Given the description of an element on the screen output the (x, y) to click on. 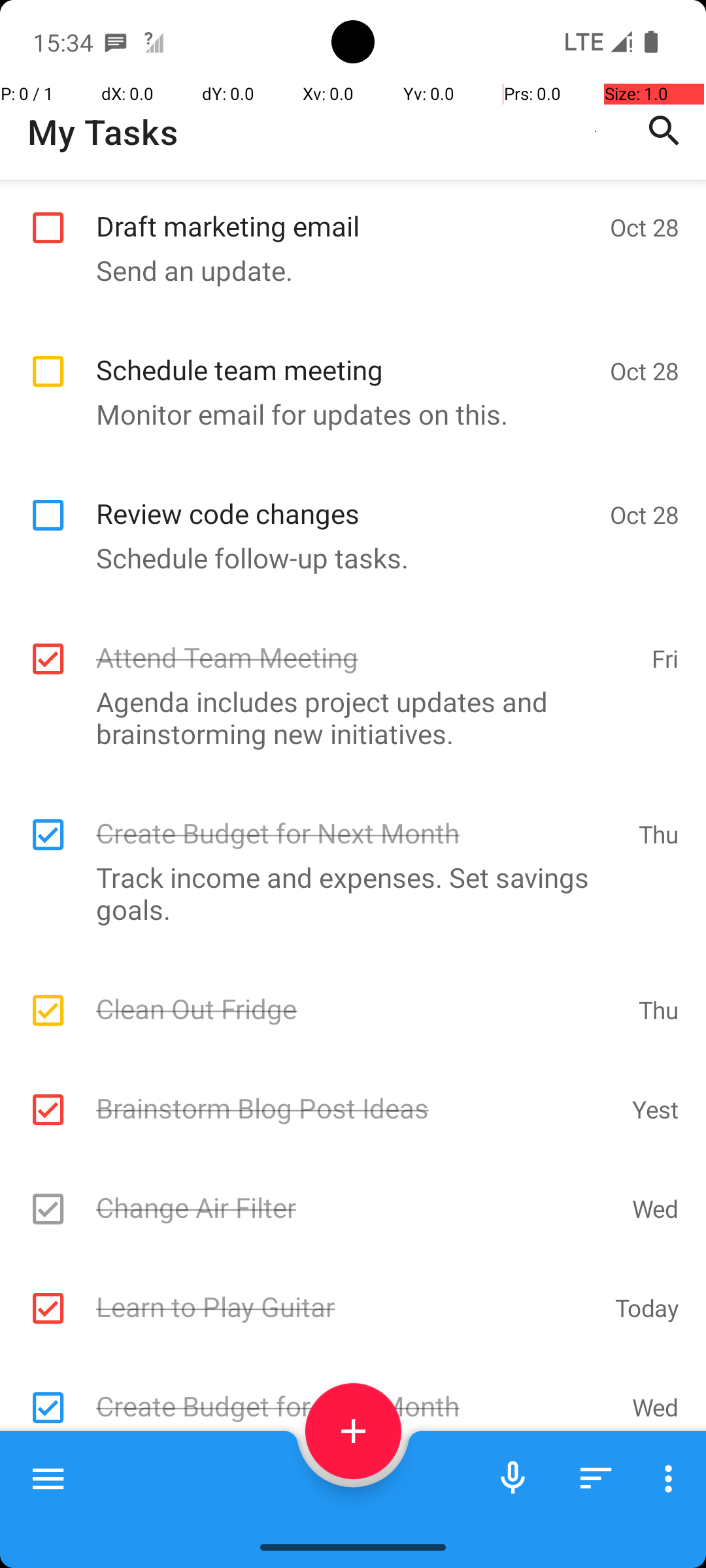
Draft marketing email Element type: android.widget.TextView (346, 211)
Send an update. Element type: android.widget.TextView (346, 269)
Oct 28 Element type: android.widget.TextView (644, 226)
Schedule team meeting Element type: android.widget.TextView (346, 355)
Monitor email for updates on this. Element type: android.widget.TextView (346, 413)
Review code changes Element type: android.widget.TextView (346, 499)
Schedule follow-up tasks. Element type: android.widget.TextView (346, 557)
